Given the description of an element on the screen output the (x, y) to click on. 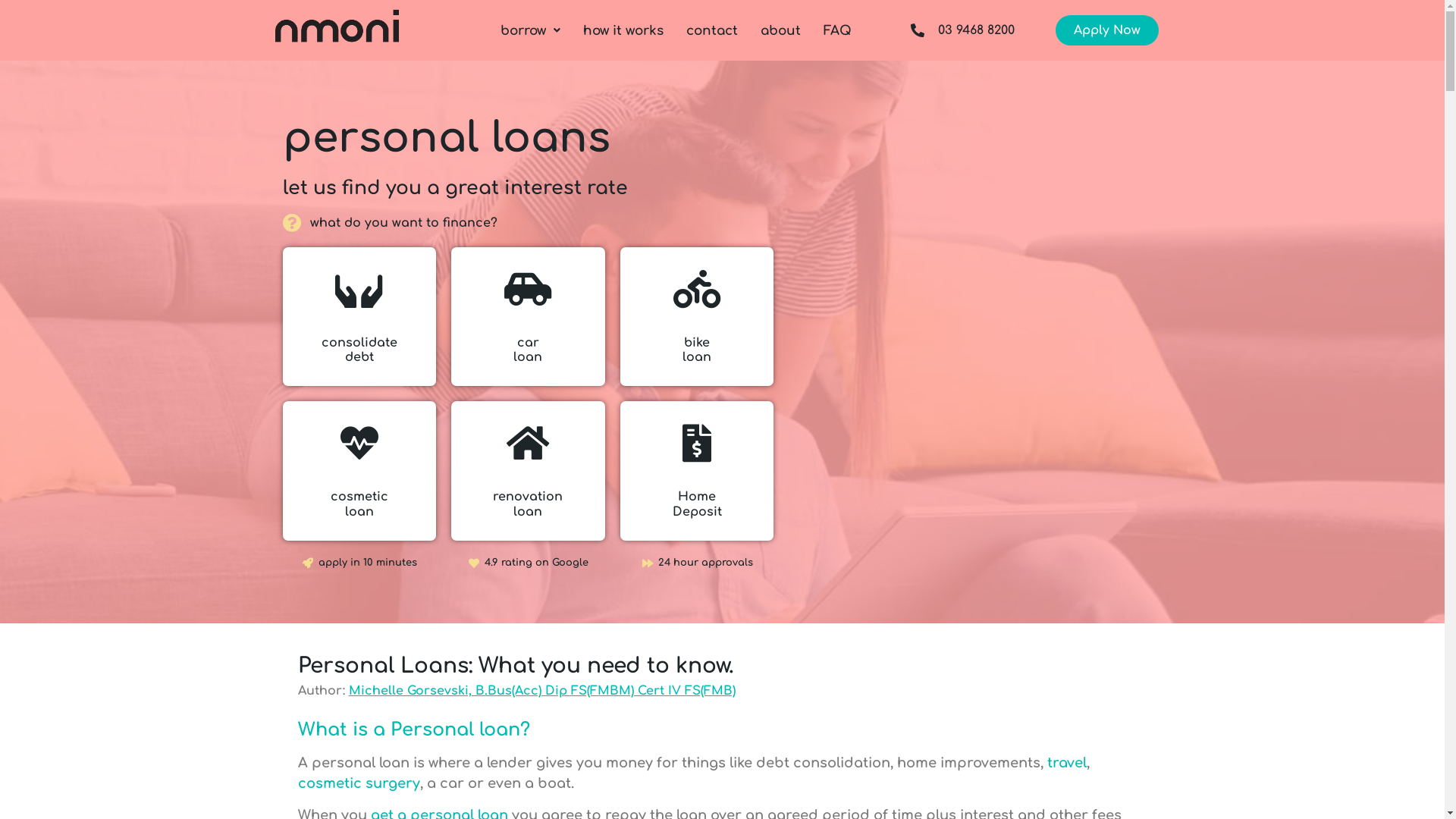
FAQ Element type: text (837, 29)
Michelle Gorsevski, B.Bus(Acc) Dip FS(FMBM) Cert IV FS(FMB) Element type: text (541, 690)
how it works Element type: text (622, 29)
cosmetic surgery Element type: text (358, 782)
borrow Element type: text (530, 29)
about Element type: text (780, 29)
contact Element type: text (711, 29)
03 9468 8200 Element type: text (949, 30)
Apply Now Element type: text (1106, 30)
travel Element type: text (1065, 762)
